Given the description of an element on the screen output the (x, y) to click on. 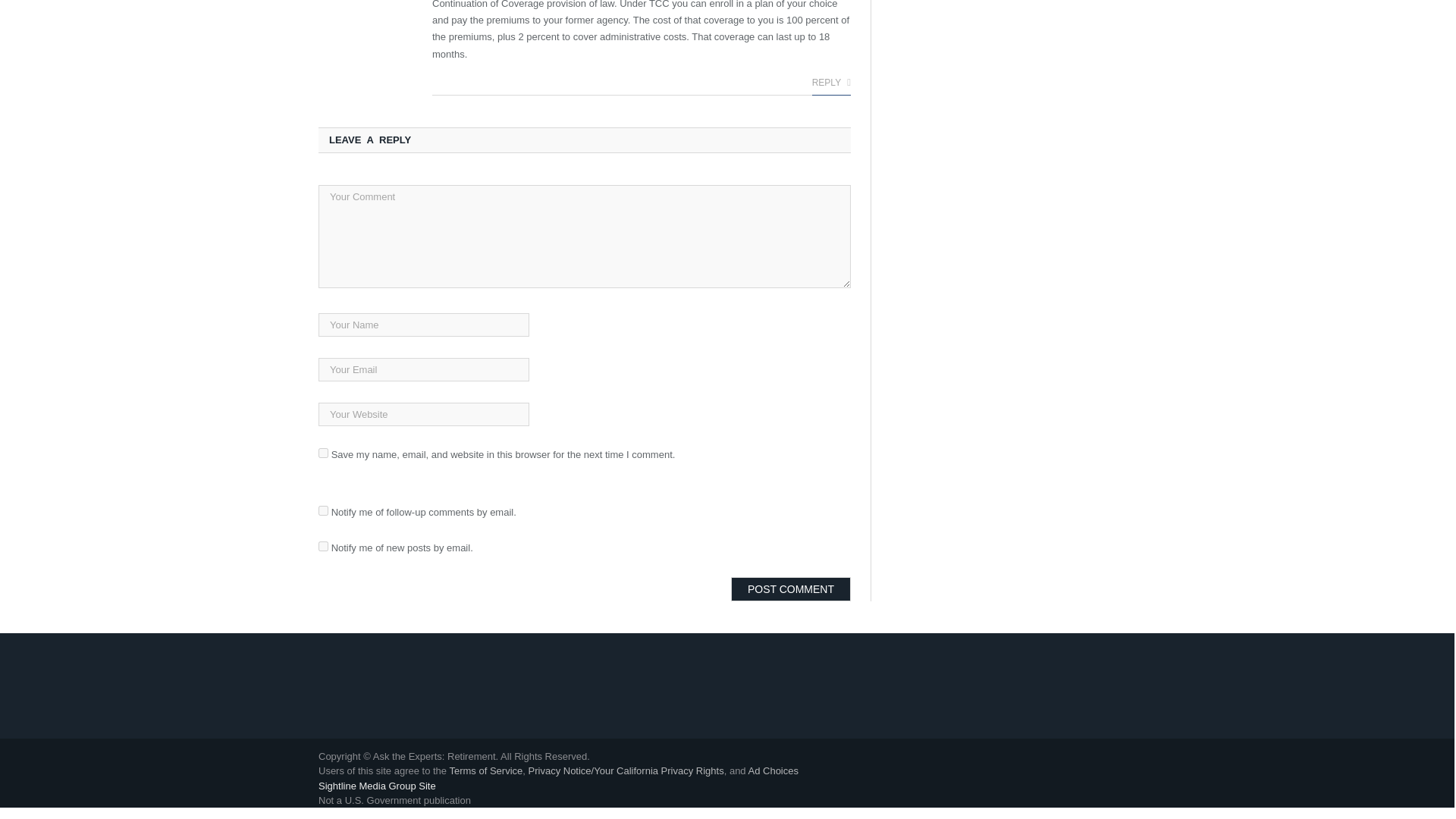
subscribe (323, 546)
subscribe (323, 510)
Post Comment (790, 589)
yes (323, 452)
